Given the description of an element on the screen output the (x, y) to click on. 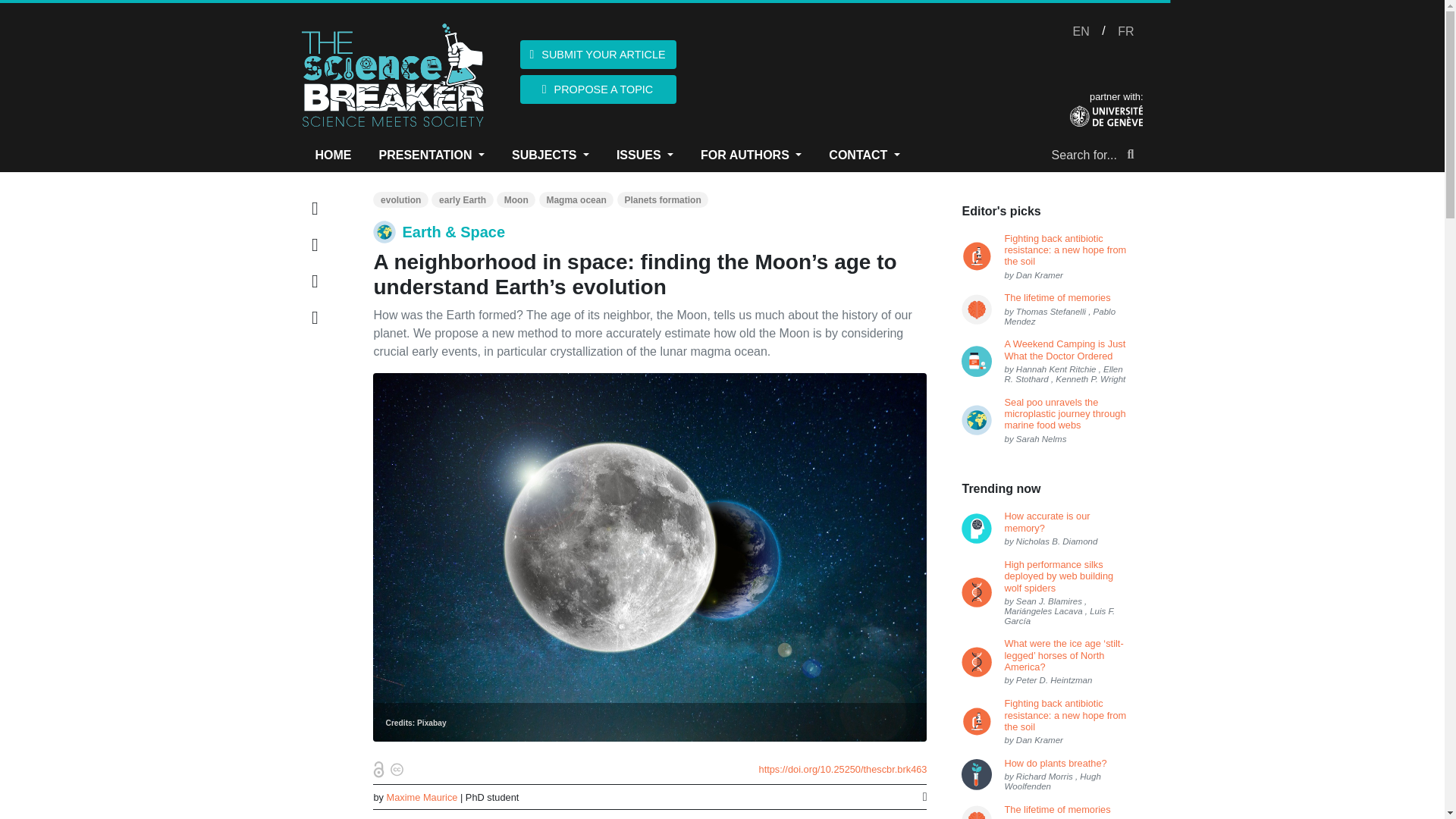
CONTACT (863, 155)
FOR AUTHORS (751, 155)
PROPOSE A TOPIC (598, 89)
ISSUES (644, 155)
HOME (333, 155)
FR (1125, 31)
PRESENTATION (432, 155)
SUBMIT YOUR ARTICLE (598, 54)
EN (1081, 31)
SUBJECTS (550, 155)
